Given the description of an element on the screen output the (x, y) to click on. 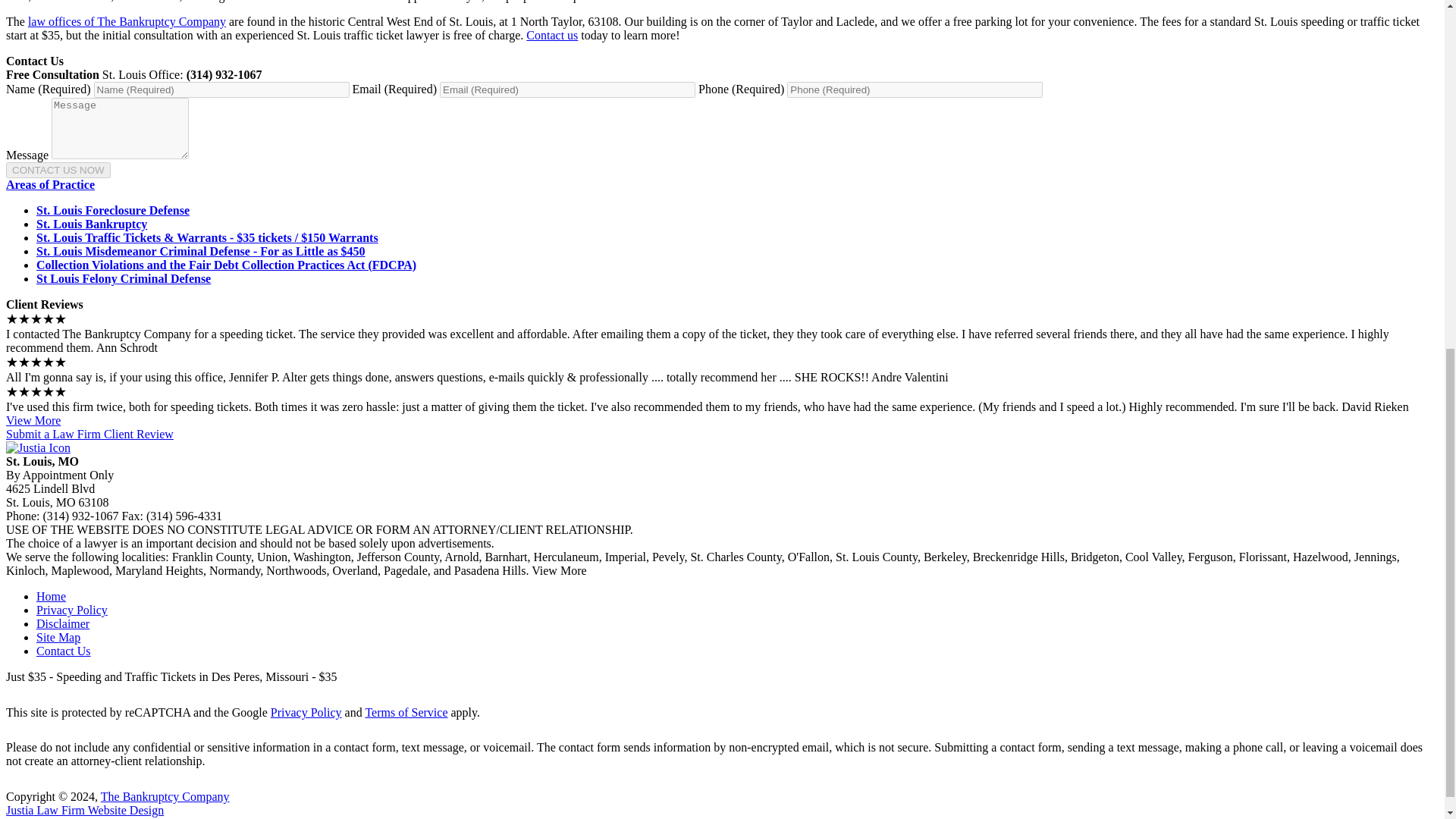
St. Louis Foreclosure Defense (112, 210)
CONTACT US NOW (57, 170)
Areas of Practice (49, 184)
St. Louis Bankruptcy (91, 223)
Contact us (551, 34)
St Louis Felony Criminal Defense (123, 278)
View More (33, 420)
law offices of The Bankruptcy Company (126, 21)
Justia (37, 447)
Submit a Law Firm Client Review (89, 433)
